Given the description of an element on the screen output the (x, y) to click on. 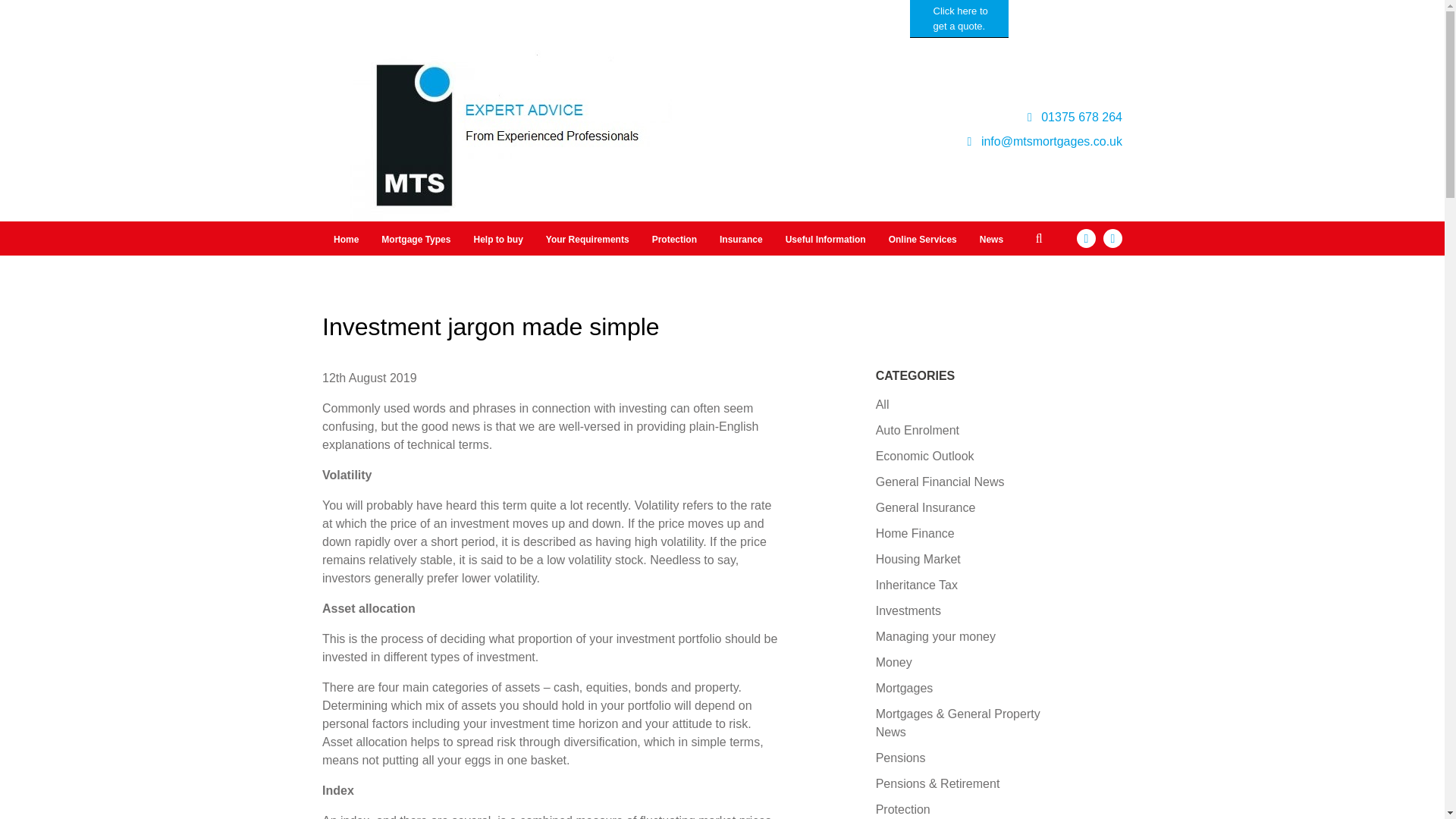
Mortgage Types (415, 239)
01375 678 264 (1074, 117)
Home (345, 239)
